Given the description of an element on the screen output the (x, y) to click on. 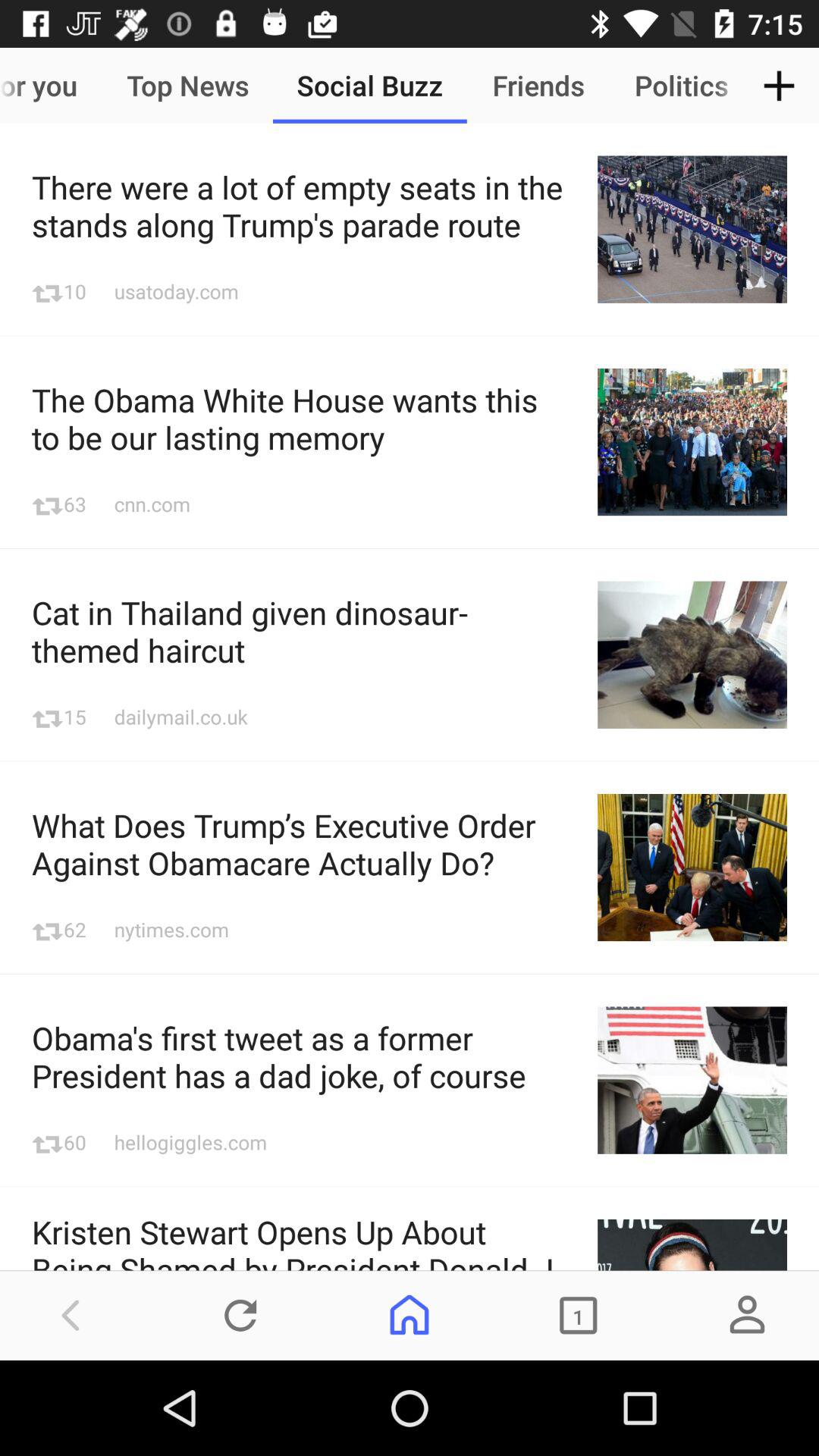
click on second icon from the bottom left (240, 1315)
click on the fourth image on the right side (692, 866)
no tagging (692, 1244)
click on the image beside text  the cat in thailand given dinosaur themed haircut (692, 654)
